Given the description of an element on the screen output the (x, y) to click on. 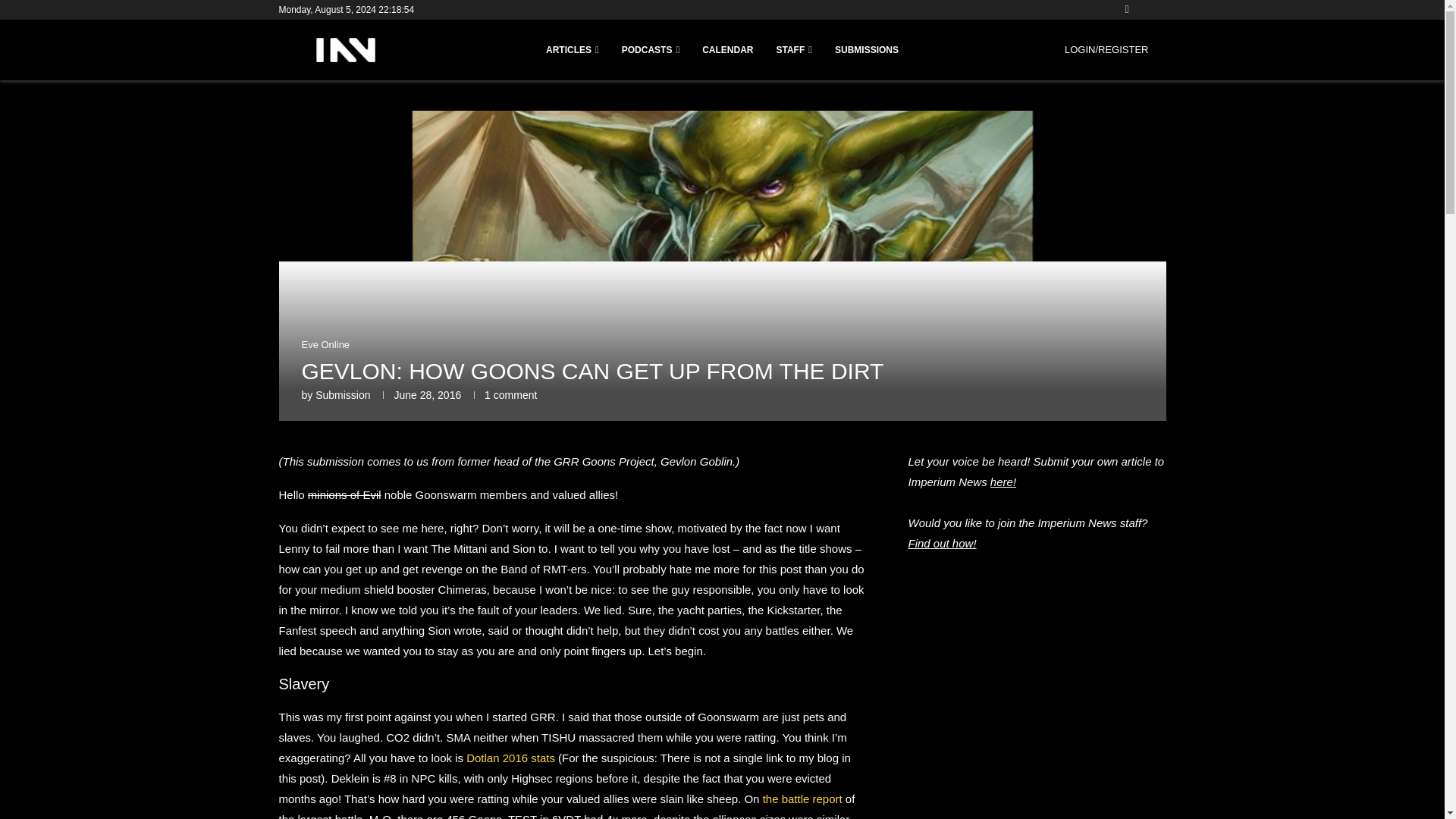
Submission (342, 395)
STAFF (794, 50)
ARTICLES (572, 50)
SUBMISSIONS (866, 50)
PODCASTS (650, 50)
CALENDAR (726, 50)
